Given the description of an element on the screen output the (x, y) to click on. 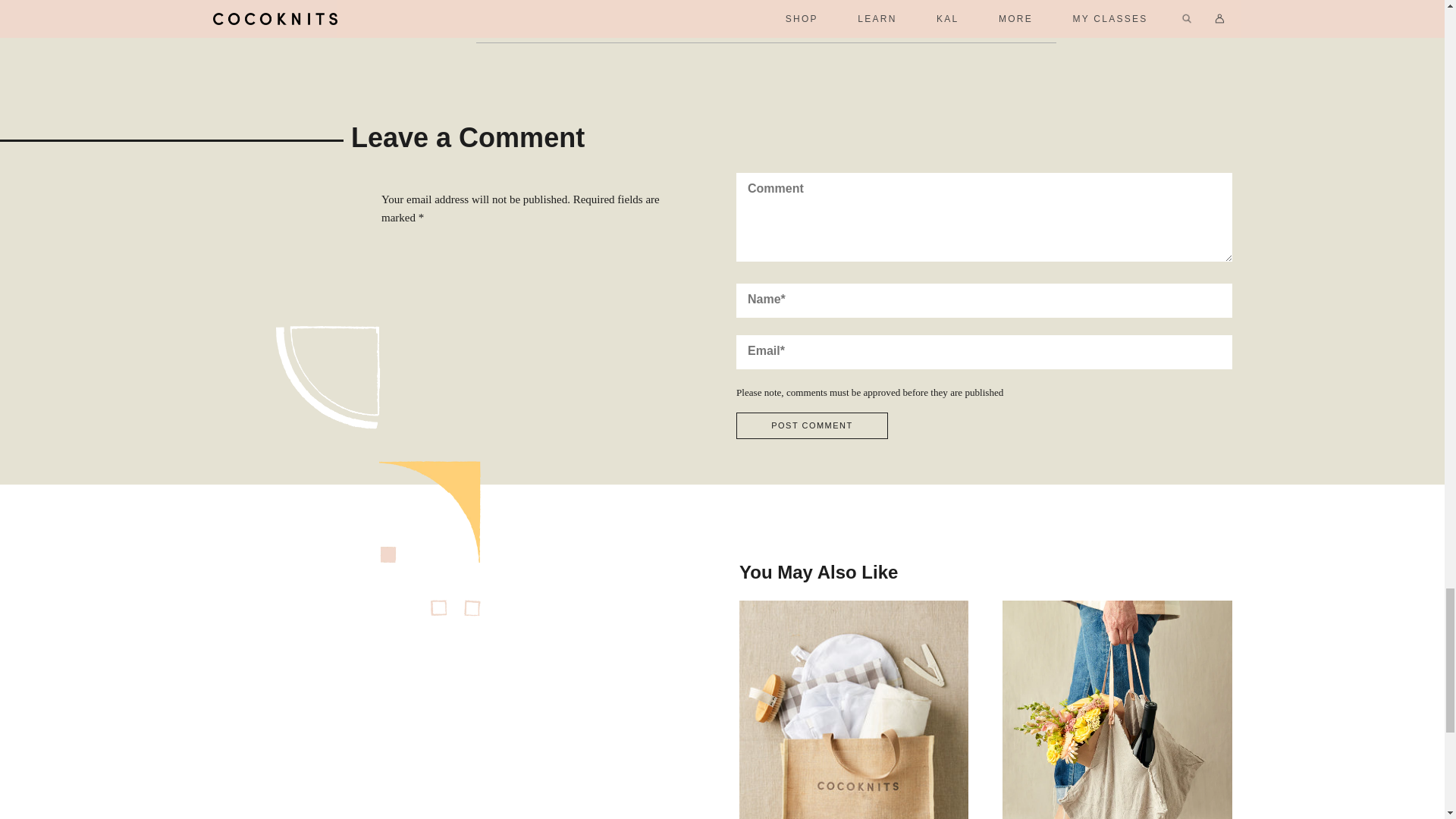
Post comment (812, 425)
